Given the description of an element on the screen output the (x, y) to click on. 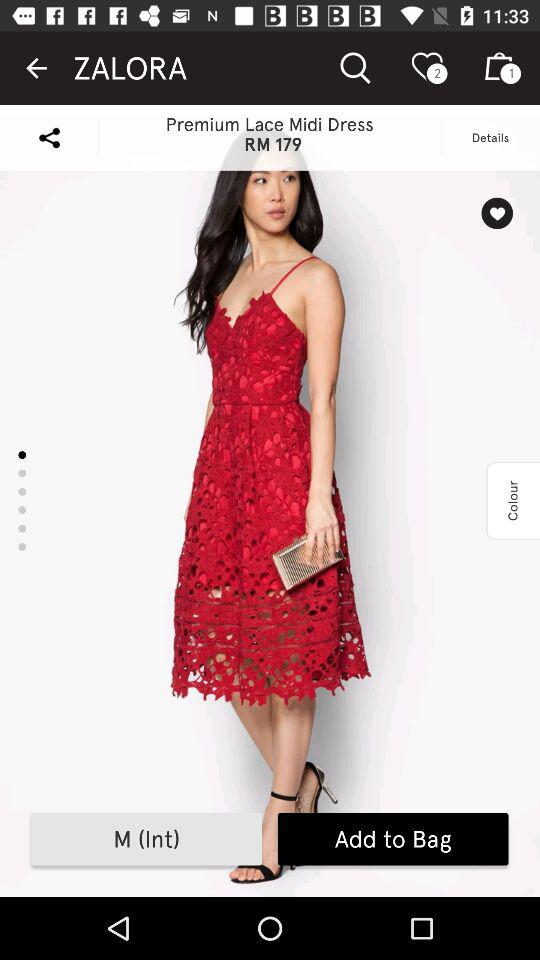
turn off the icon to the right of the m (int) (392, 839)
